Given the description of an element on the screen output the (x, y) to click on. 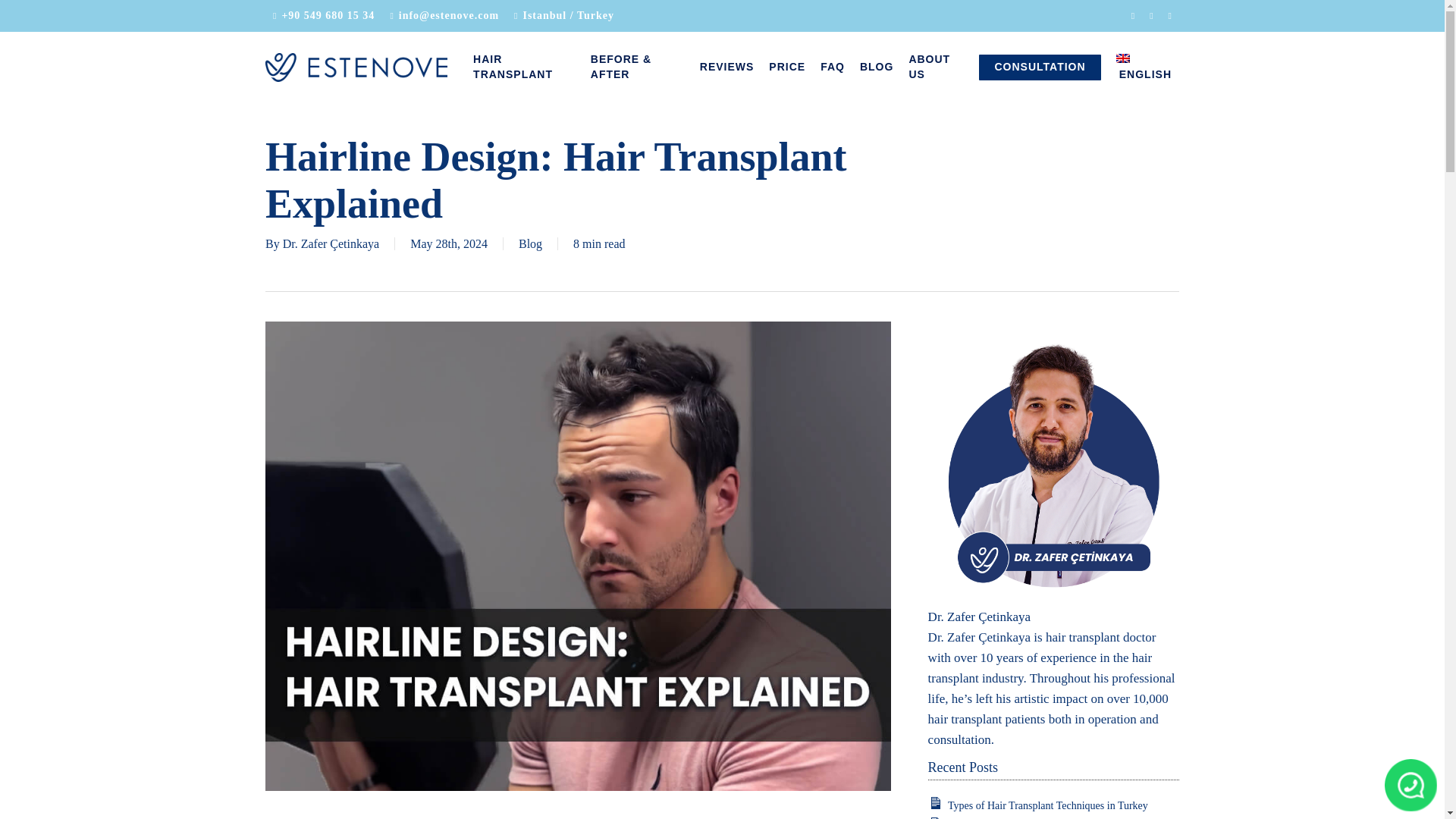
FAQ (831, 67)
REVIEWS (727, 67)
ENGLISH (1143, 67)
ABOUT US (936, 67)
Types of Hair Transplant Techniques in Turkey (1047, 805)
English (1143, 67)
Blog (529, 243)
CONSULTATION (1039, 67)
Types of Hair Transplant Techniques in Turkey (1047, 805)
PRICE (786, 67)
